Given the description of an element on the screen output the (x, y) to click on. 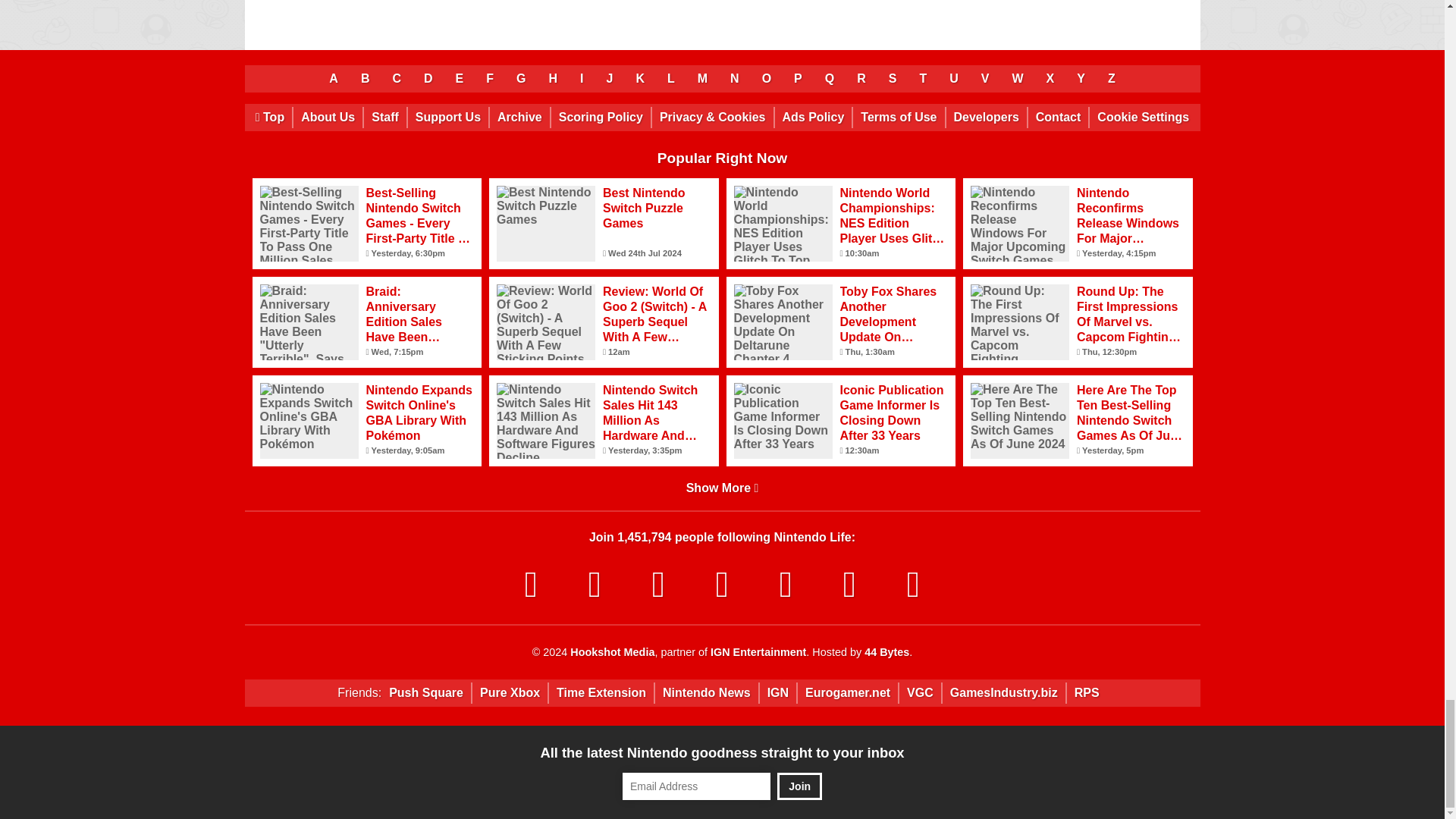
Join (799, 786)
